Given the description of an element on the screen output the (x, y) to click on. 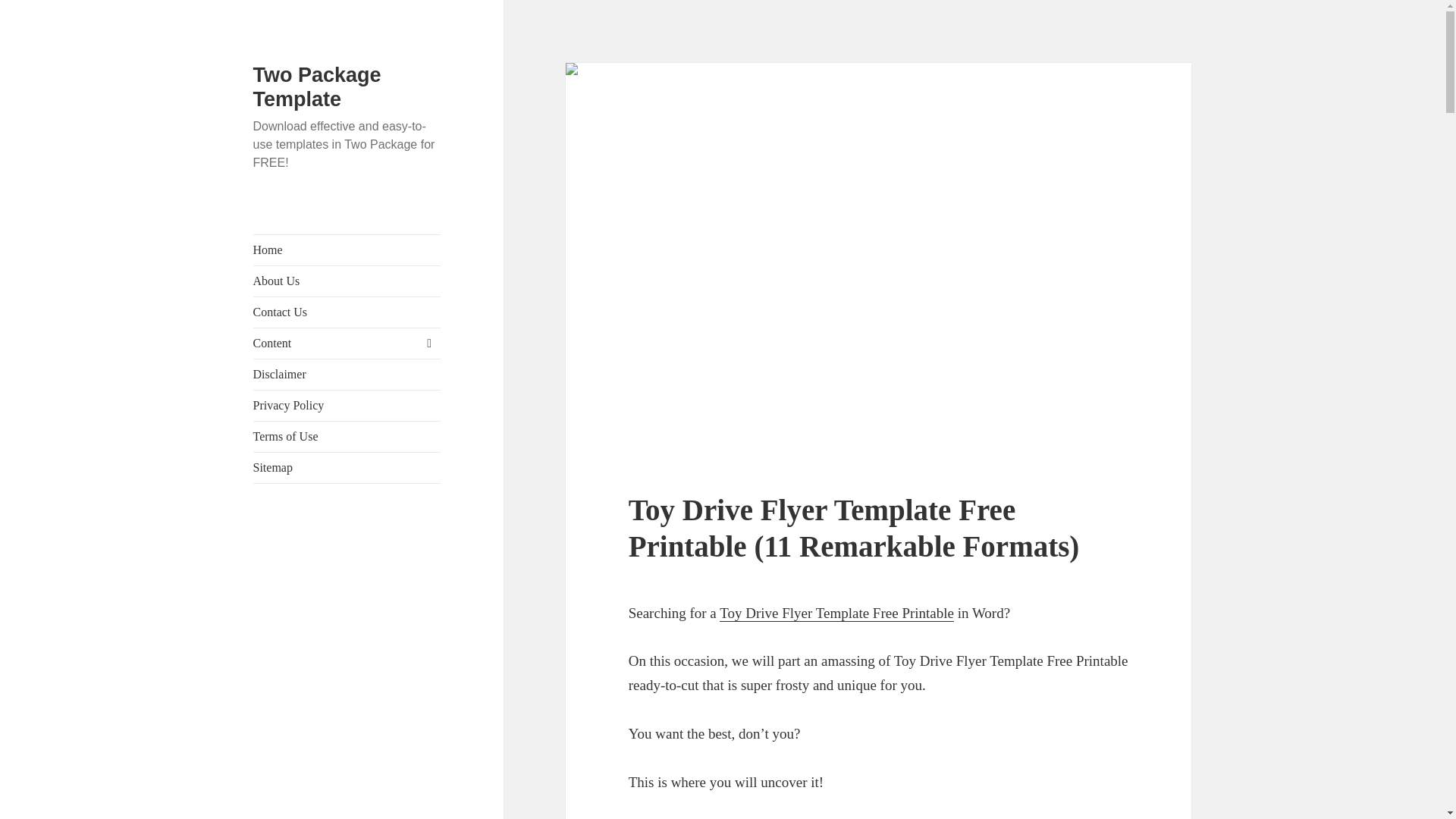
Home (347, 250)
Disclaimer (347, 374)
Two Package Template (317, 86)
Terms of Use (347, 436)
Toy Drive Flyer Template Free Printable (836, 613)
Contact Us (347, 312)
Privacy Policy (347, 405)
Sitemap (347, 467)
Content (347, 343)
About Us (347, 281)
